Given the description of an element on the screen output the (x, y) to click on. 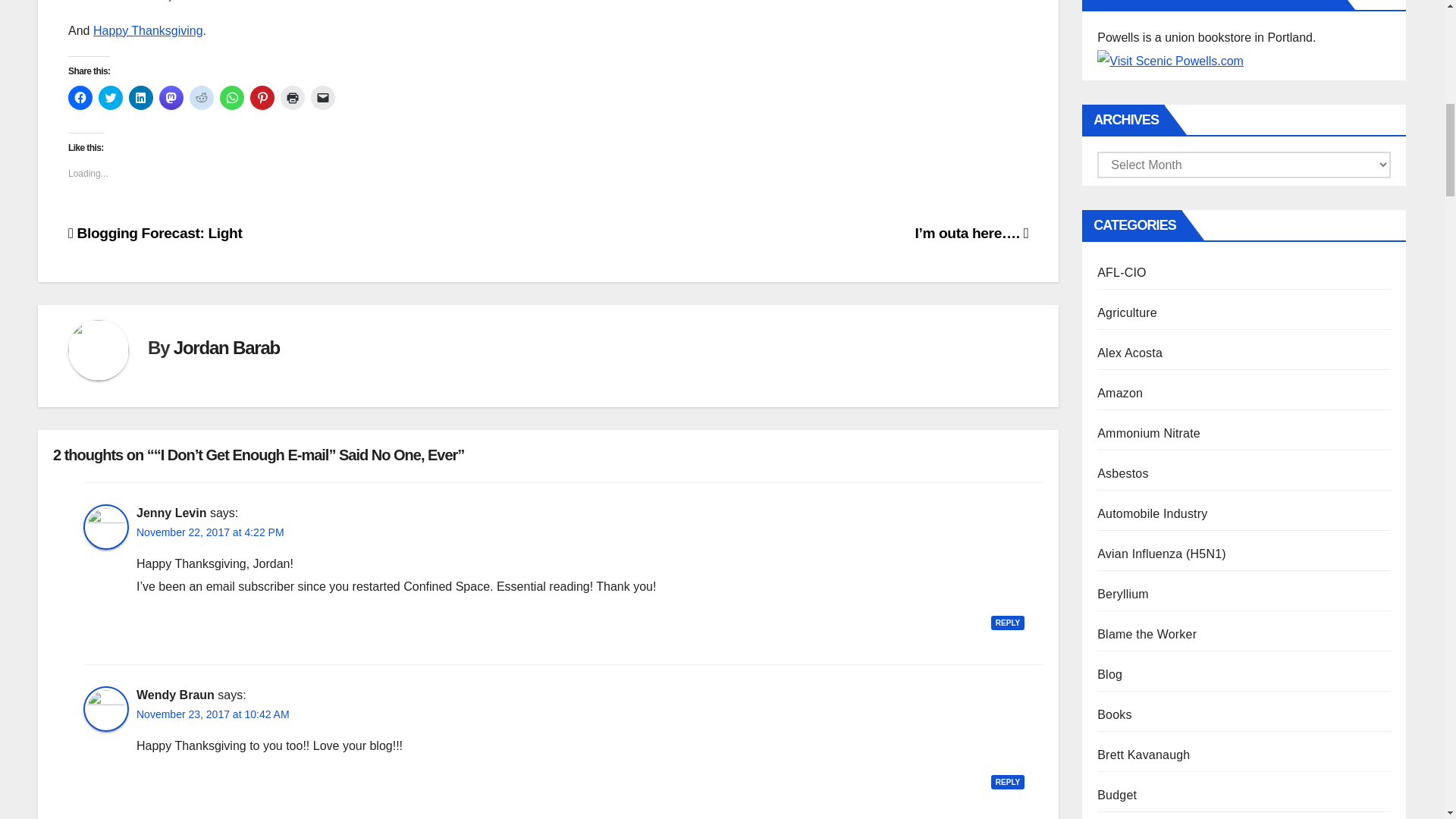
Blogging Forecast: Light (154, 232)
Click to share on Twitter (110, 97)
Click to share on WhatsApp (231, 97)
Click to share on Mastodon (170, 97)
Click to share on LinkedIn (140, 97)
Click to share on Pinterest (262, 97)
Click to share on Reddit (201, 97)
REPLY (1008, 781)
November 23, 2017 at 10:42 AM (212, 714)
November 22, 2017 at 4:22 PM (209, 532)
